Given the description of an element on the screen output the (x, y) to click on. 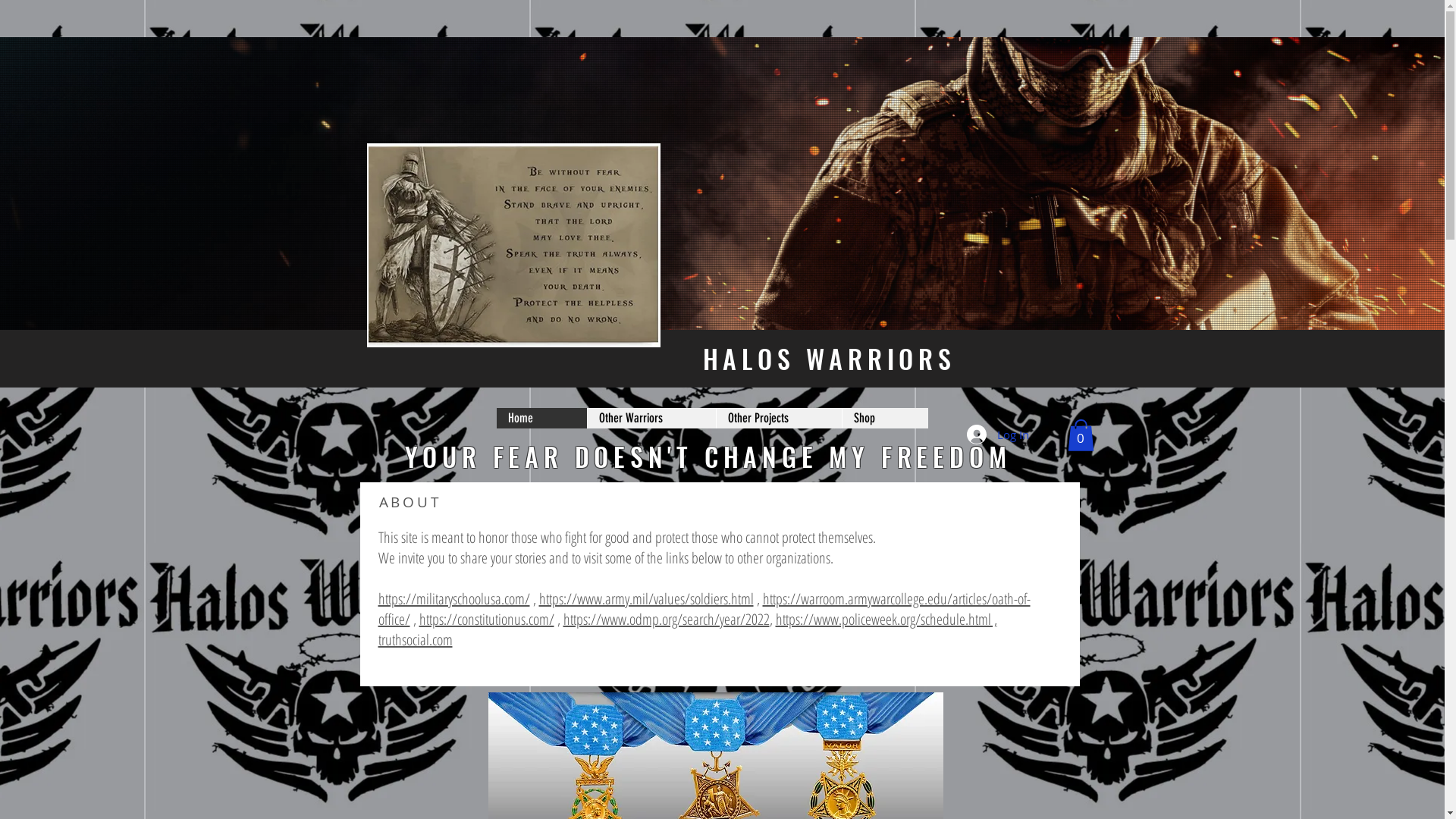
https://militaryschoolusa.com/ Element type: text (453, 598)
Home Element type: text (540, 417)
Log In Element type: text (996, 434)
Shop Element type: text (884, 417)
https://www.army.mil/values/soldiers.html Element type: text (645, 598)
https://constitutionus.com/ Element type: text (485, 618)
Other Projects Element type: text (778, 417)
Other Warriors Element type: text (650, 417)
0 Element type: text (1080, 435)
https://www.policeweek.org/schedule.html , truthsocial.com Element type: text (686, 628)
https://www.odmp.org/search/year/2022 Element type: text (665, 618)
https://warroom.armywarcollege.edu/articles/oath-of-office/ Element type: text (703, 608)
